Given the description of an element on the screen output the (x, y) to click on. 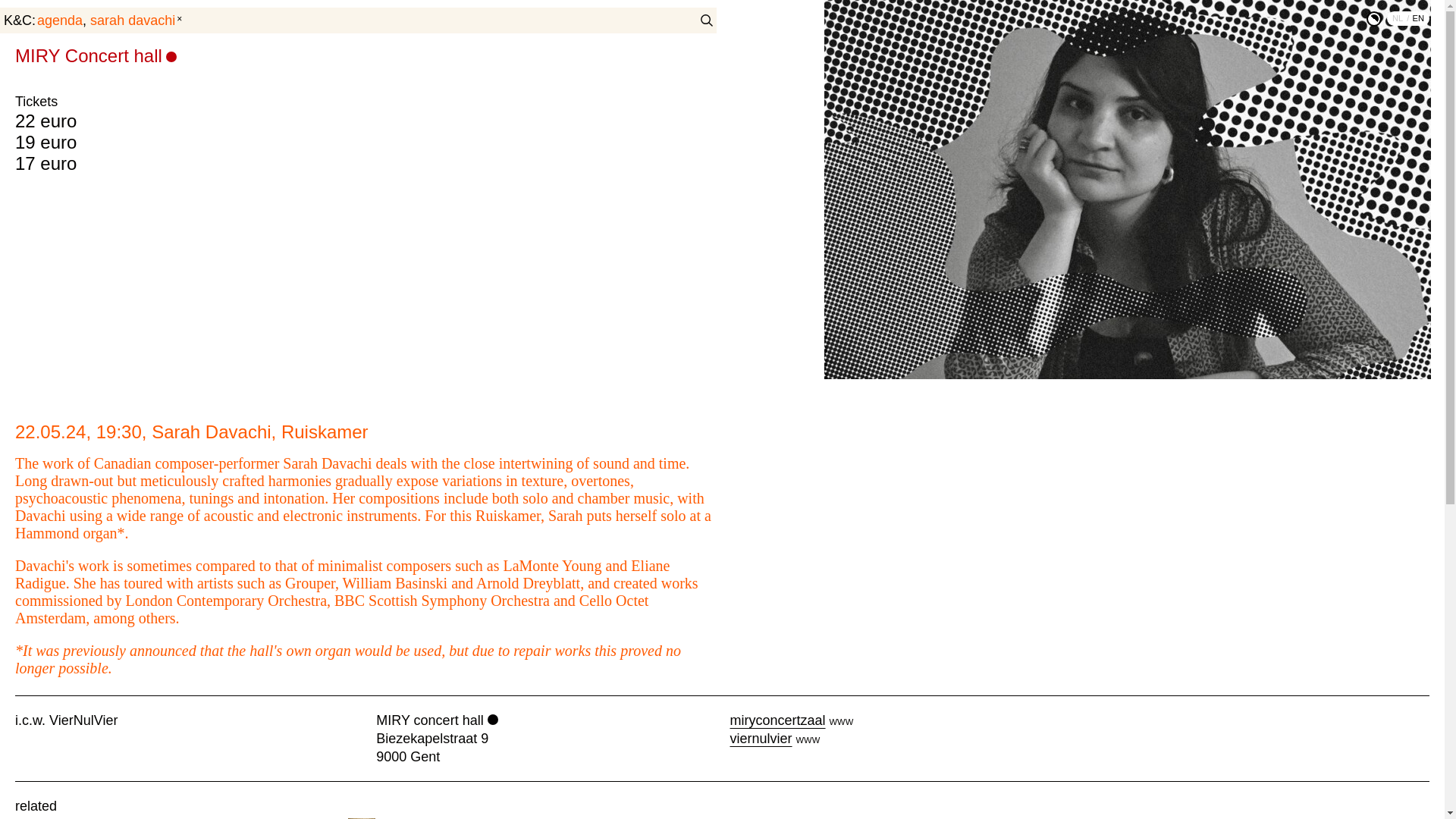
sarah davachi (135, 20)
viernulvier (760, 738)
MIRY concert hall (436, 720)
17 euro (45, 163)
NL (1401, 17)
miryconcertzaal (777, 720)
22 euro (45, 120)
EN (1417, 17)
19 euro (45, 141)
agenda (95, 55)
